Given the description of an element on the screen output the (x, y) to click on. 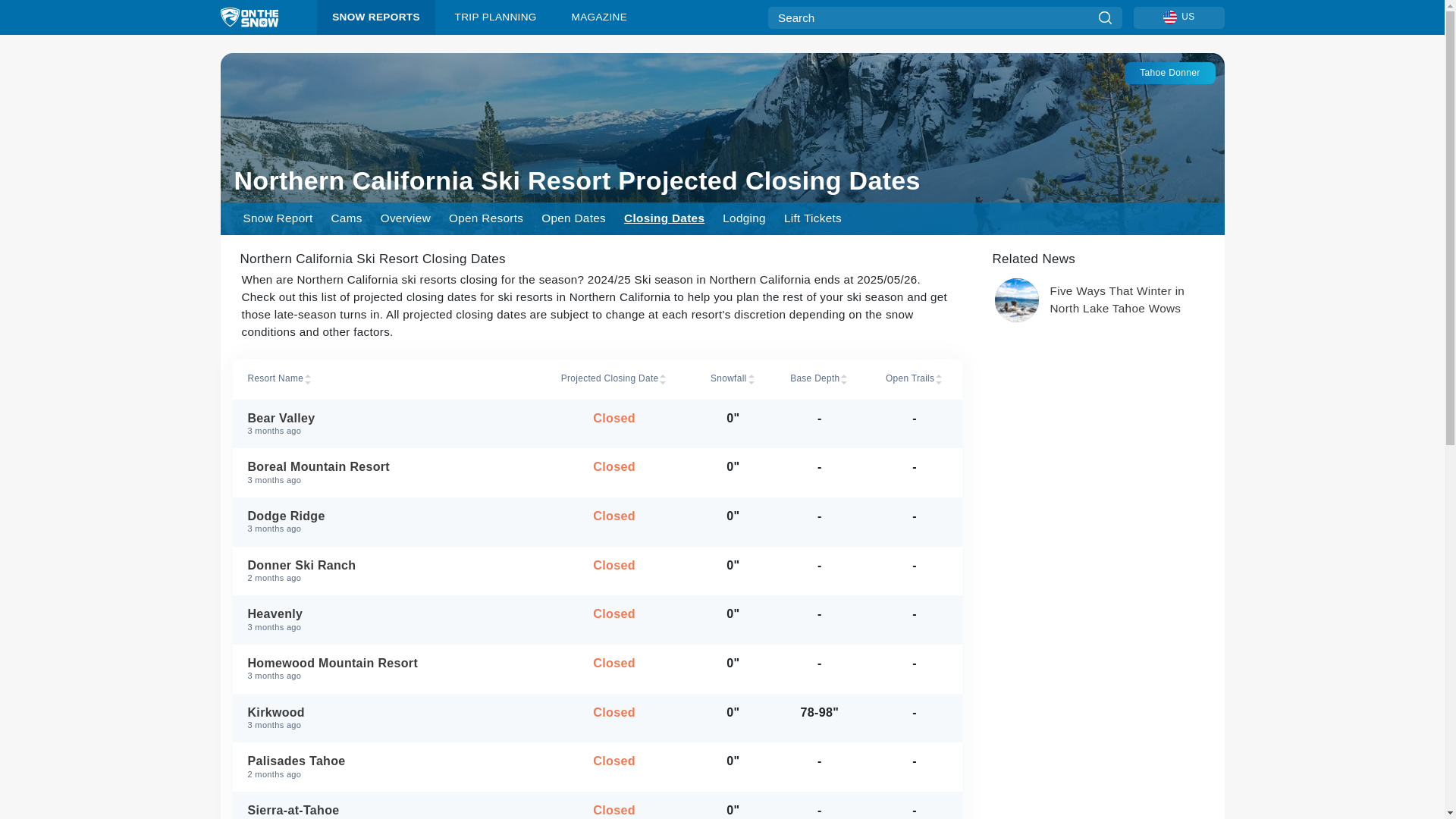
Lift Tickets (812, 218)
Snow Report Last Updated: (274, 818)
Closing Dates (663, 218)
Snow Report Last Updated: (274, 577)
Snow Report Last Updated: (274, 675)
Snow Report Last Updated: (274, 430)
Tahoe Donner (382, 521)
Open Dates (382, 423)
Snow Report Last Updated: (1169, 73)
Open Resorts (573, 218)
Search (274, 774)
